Given the description of an element on the screen output the (x, y) to click on. 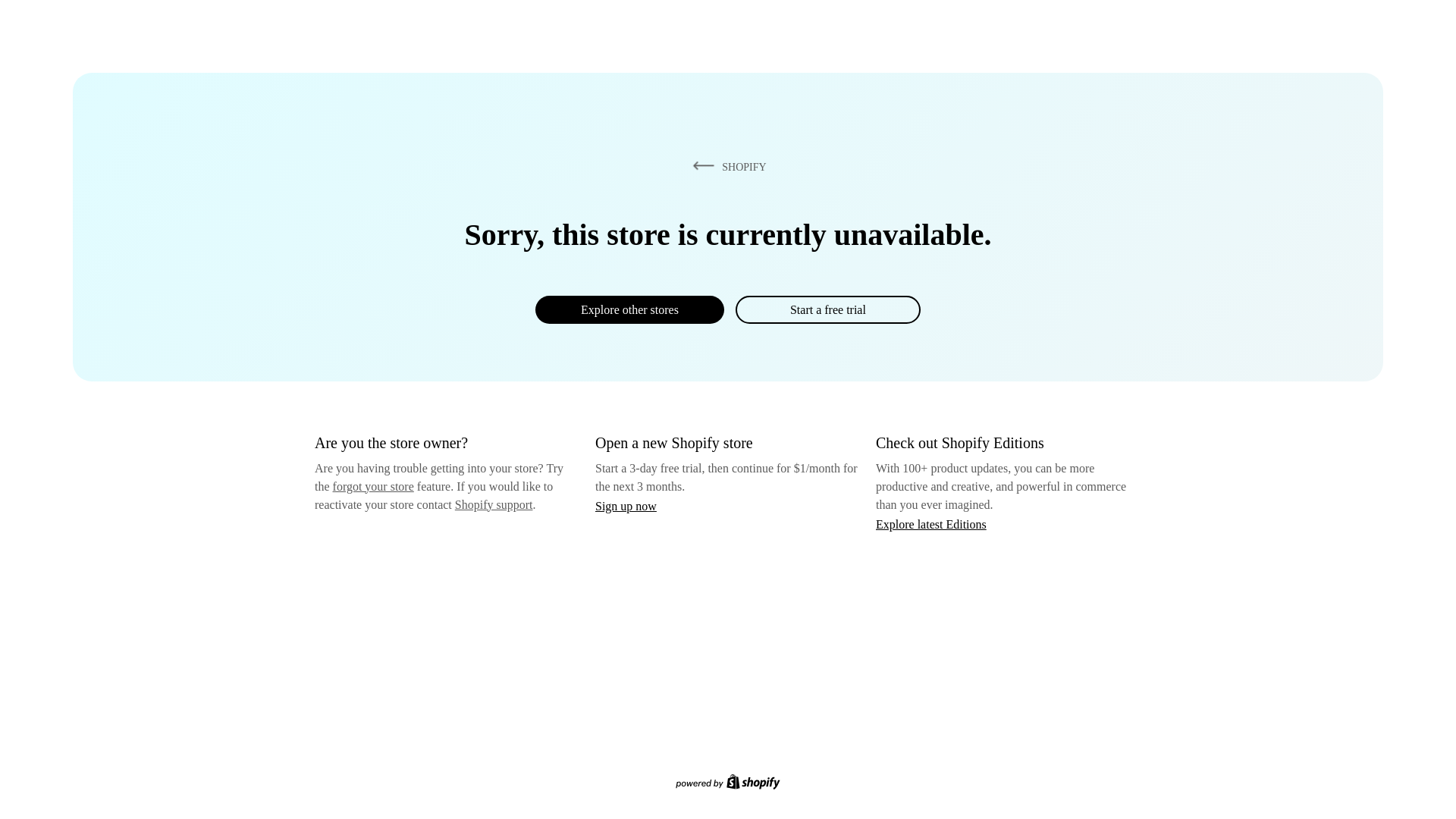
SHOPIFY (726, 166)
forgot your store (373, 486)
Start a free trial (827, 309)
Explore other stores (629, 309)
Explore latest Editions (931, 523)
Sign up now (625, 505)
Shopify support (493, 504)
